Given the description of an element on the screen output the (x, y) to click on. 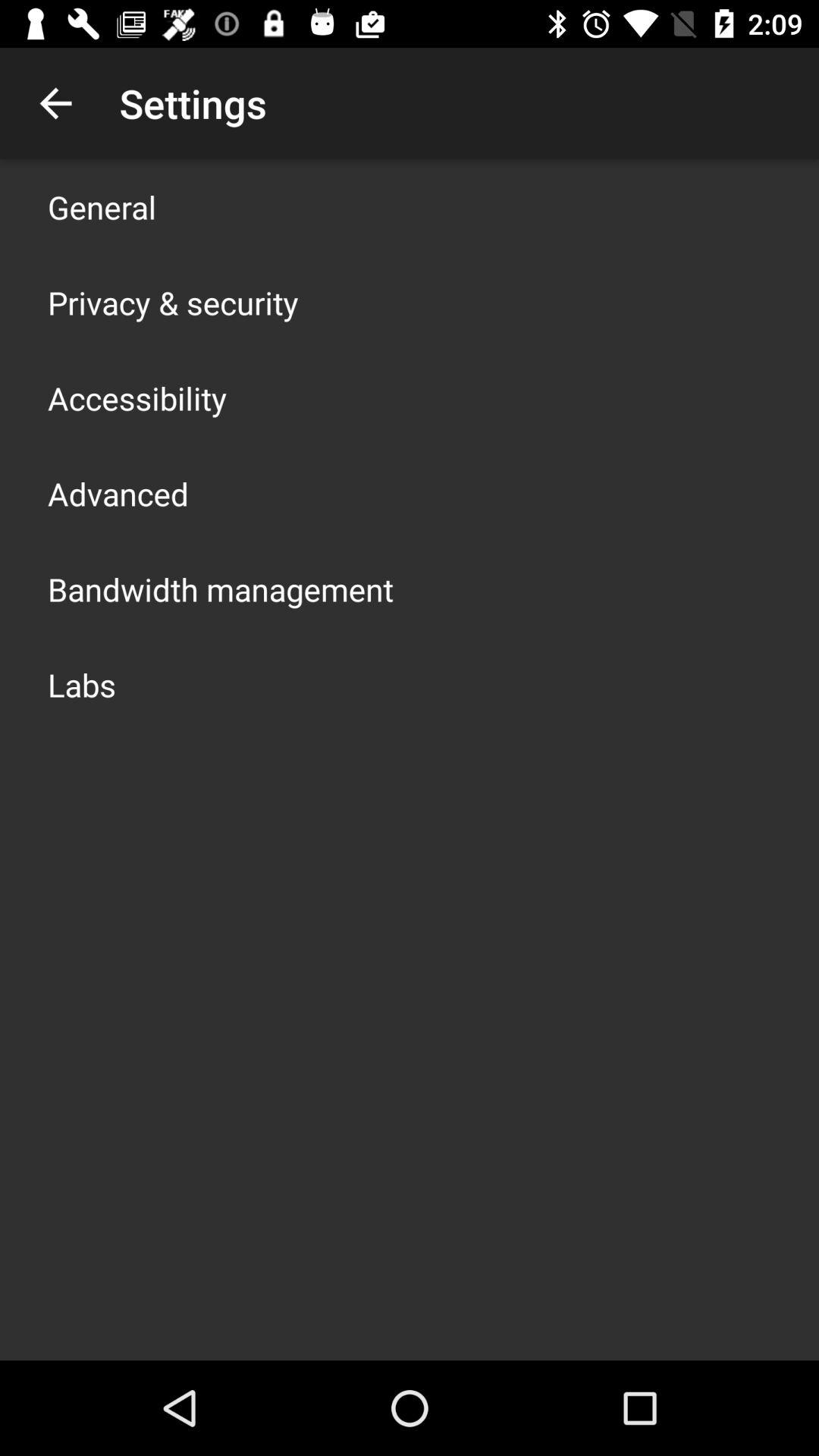
click the bandwidth management item (220, 588)
